Given the description of an element on the screen output the (x, y) to click on. 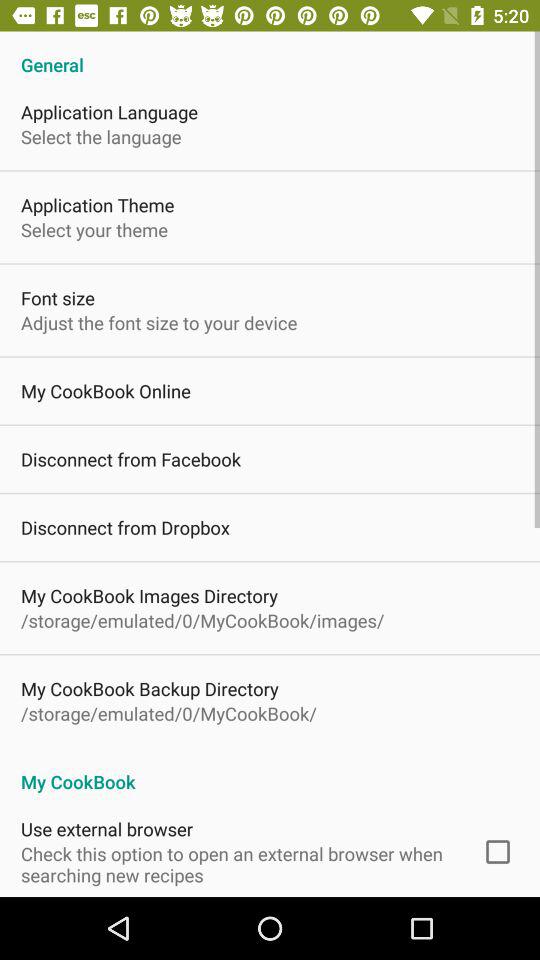
choose the application theme (97, 204)
